Given the description of an element on the screen output the (x, y) to click on. 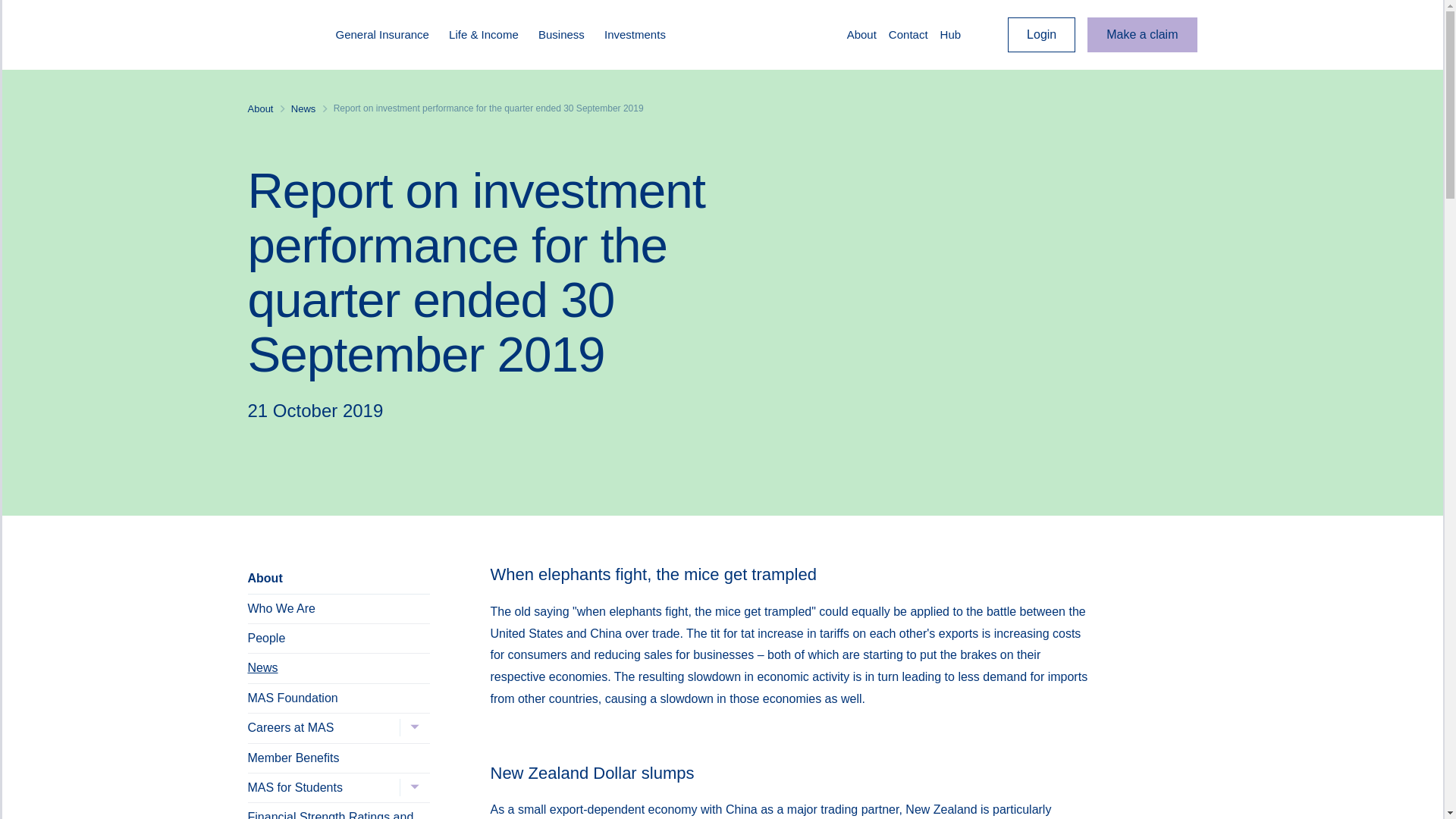
Investments (641, 34)
Contact (908, 34)
Business (567, 34)
About (861, 34)
General Insurance (387, 34)
